Given the description of an element on the screen output the (x, y) to click on. 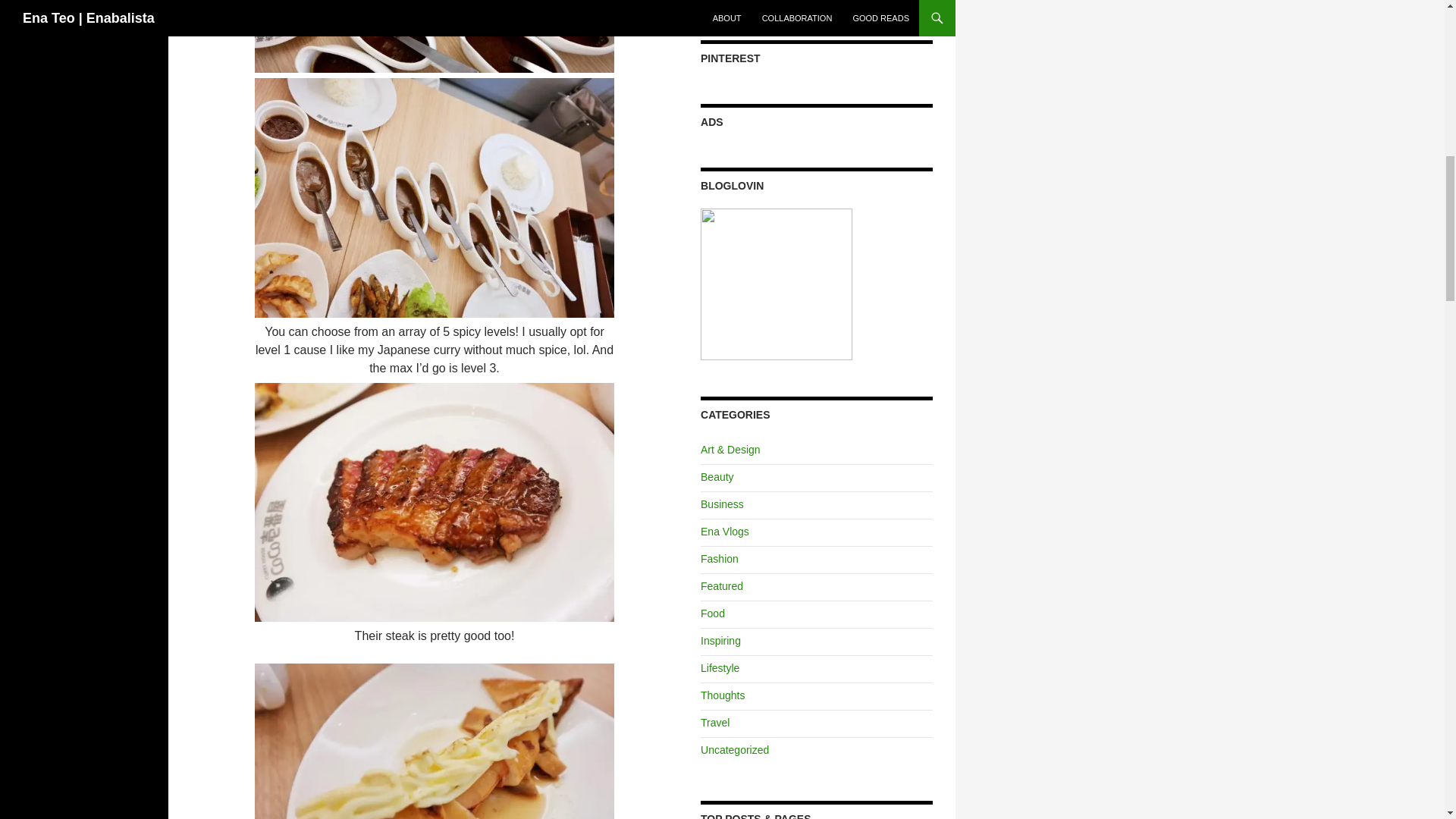
Ena Vlogs (724, 531)
My Tweets (725, 1)
Business (722, 503)
Beauty (716, 476)
